Given the description of an element on the screen output the (x, y) to click on. 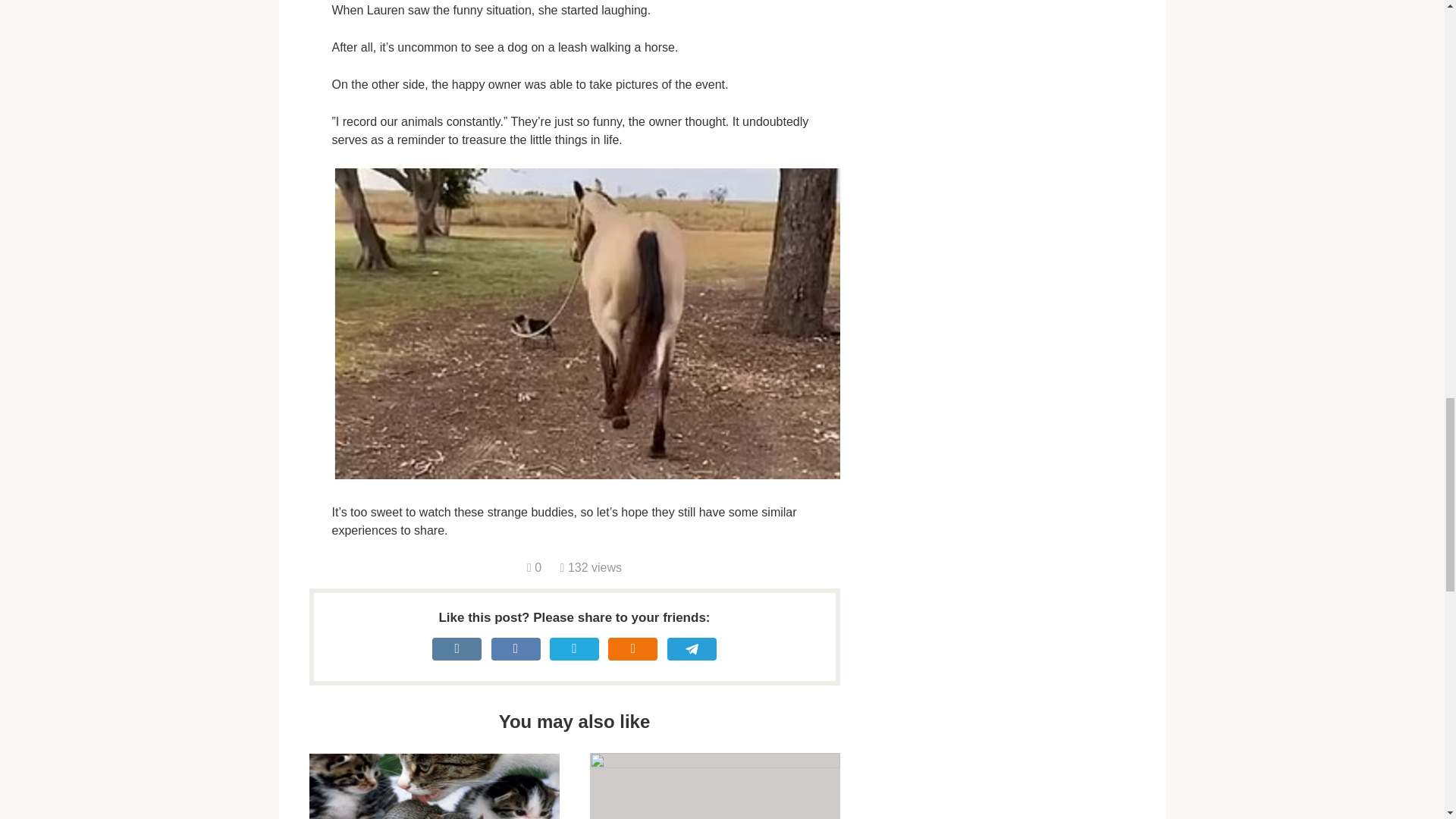
Comments (534, 567)
Views (590, 567)
